Given the description of an element on the screen output the (x, y) to click on. 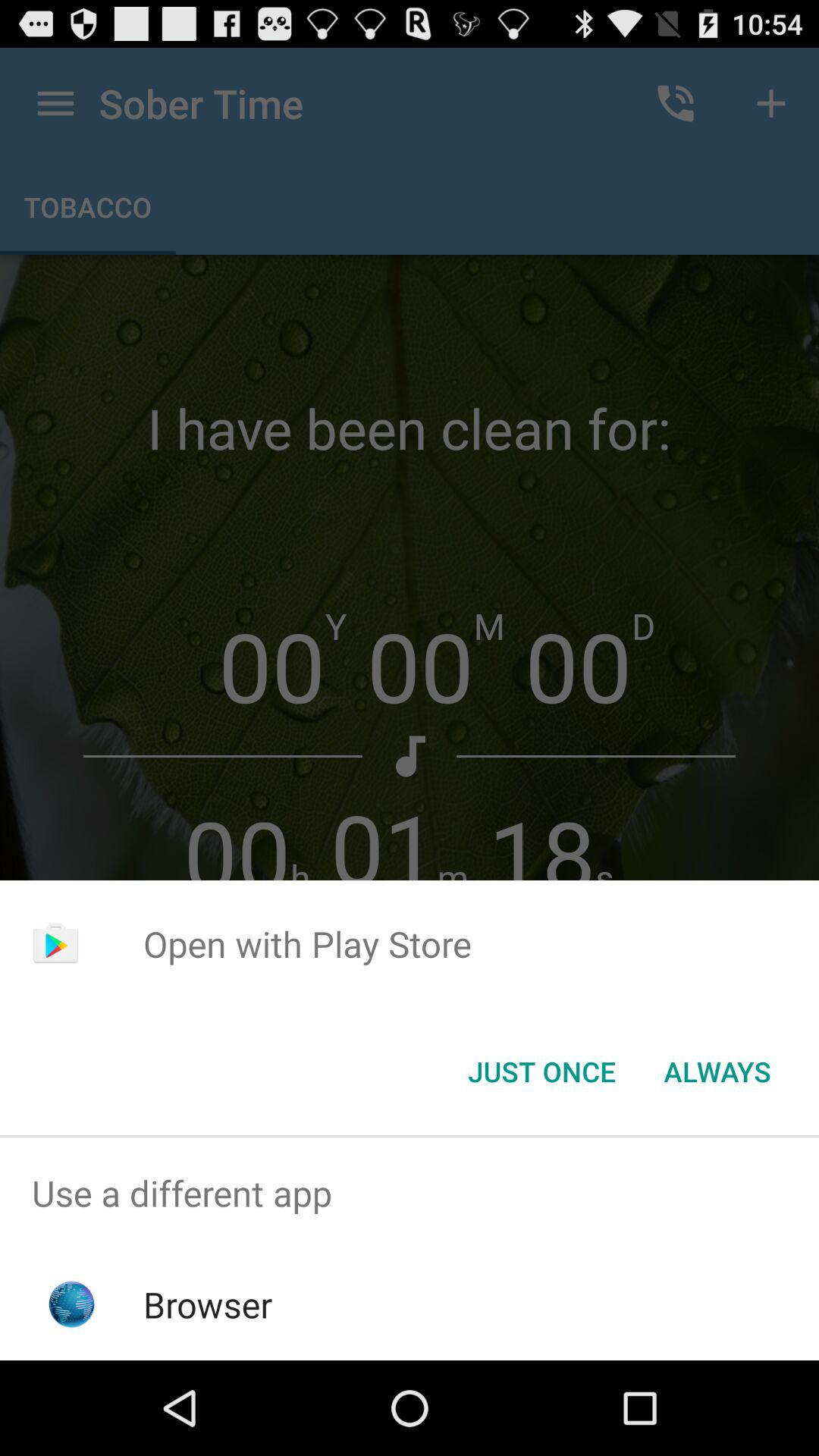
launch button next to always (541, 1071)
